Given the description of an element on the screen output the (x, y) to click on. 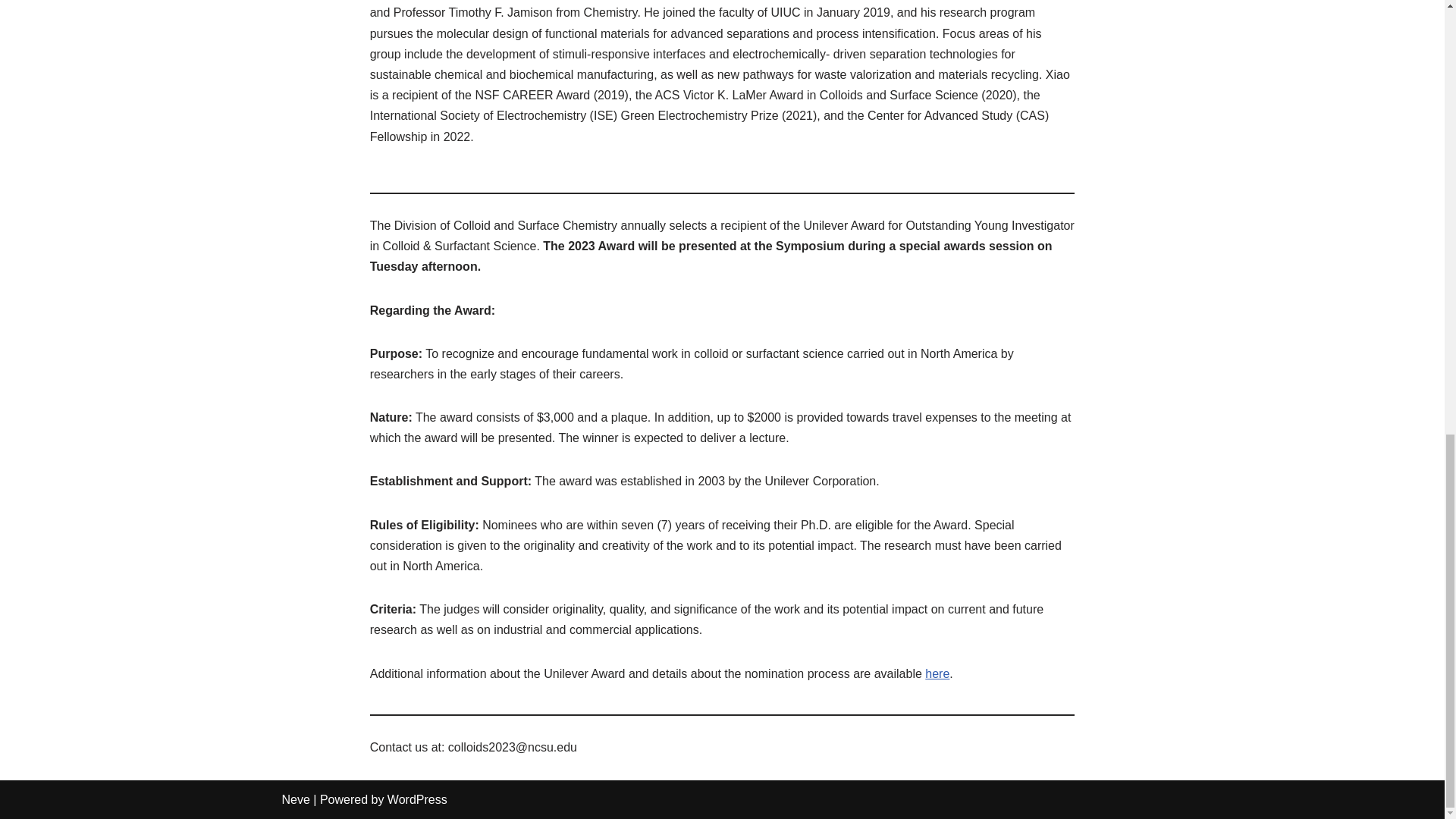
here (936, 673)
WordPress (416, 799)
Neve (296, 799)
